Given the description of an element on the screen output the (x, y) to click on. 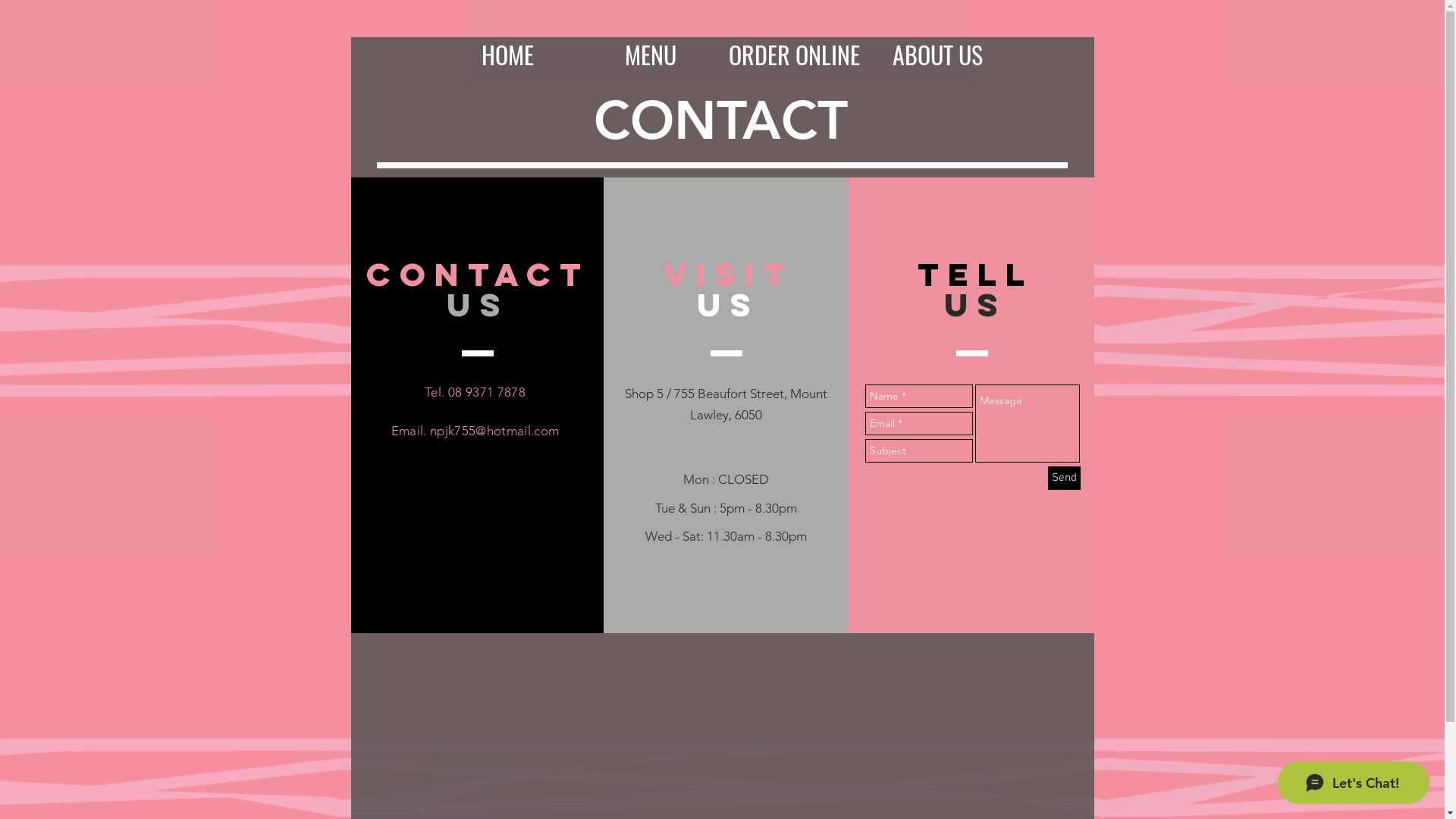
MENU Element type: text (650, 46)
ORDER ONLINE Element type: text (793, 46)
Send Element type: text (1064, 477)
npjk755@hotmail.com Element type: text (493, 430)
HOME Element type: text (506, 46)
ABOUT US Element type: text (937, 46)
Restaurant Social Bar Element type: hover (474, 491)
